Given the description of an element on the screen output the (x, y) to click on. 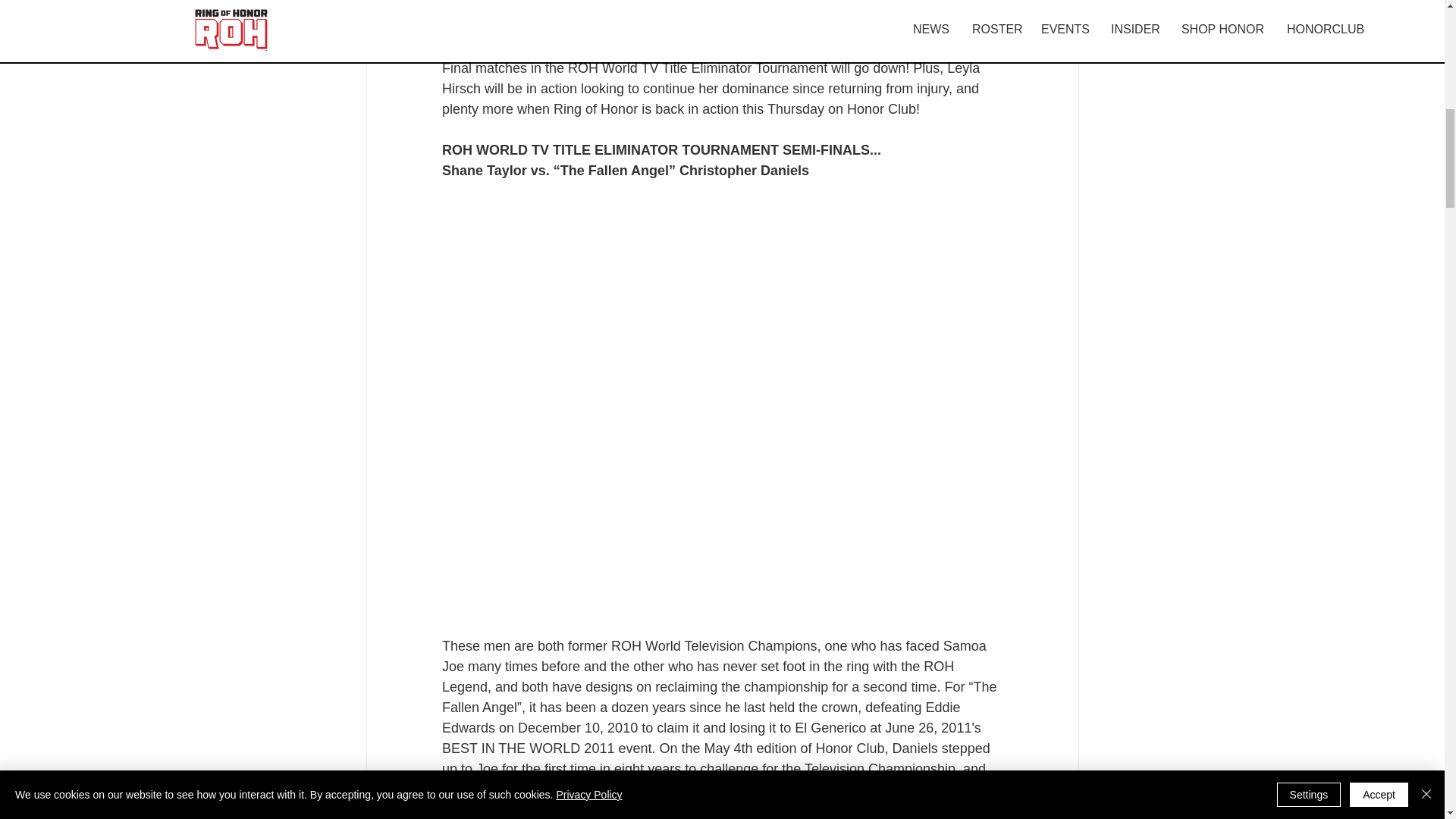
Honor Club, (810, 7)
